Given the description of an element on the screen output the (x, y) to click on. 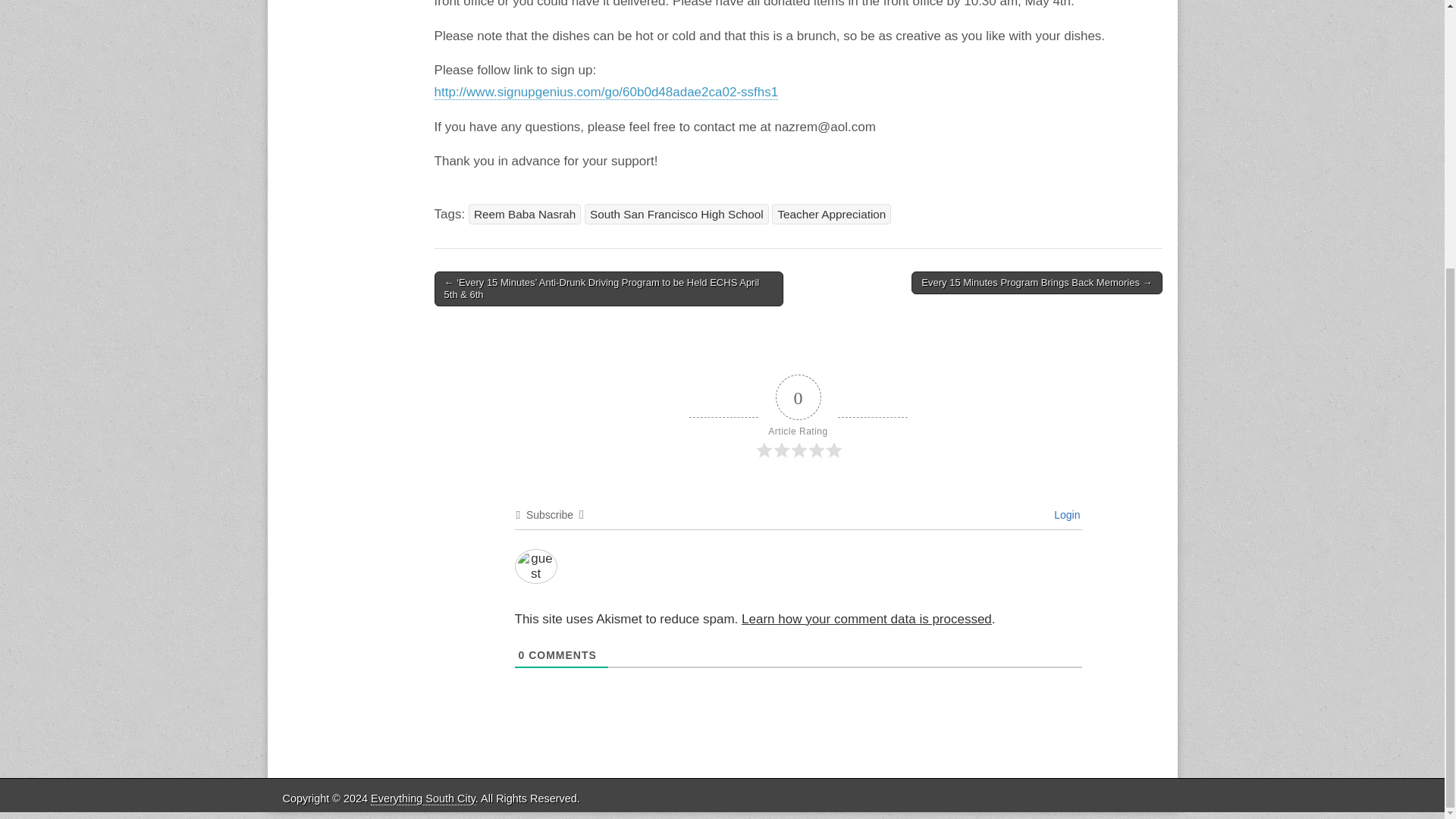
Teacher Appreciation (831, 214)
South San Francisco High School (676, 214)
Login (1064, 514)
Reem Baba Nasrah (524, 214)
